Given the description of an element on the screen output the (x, y) to click on. 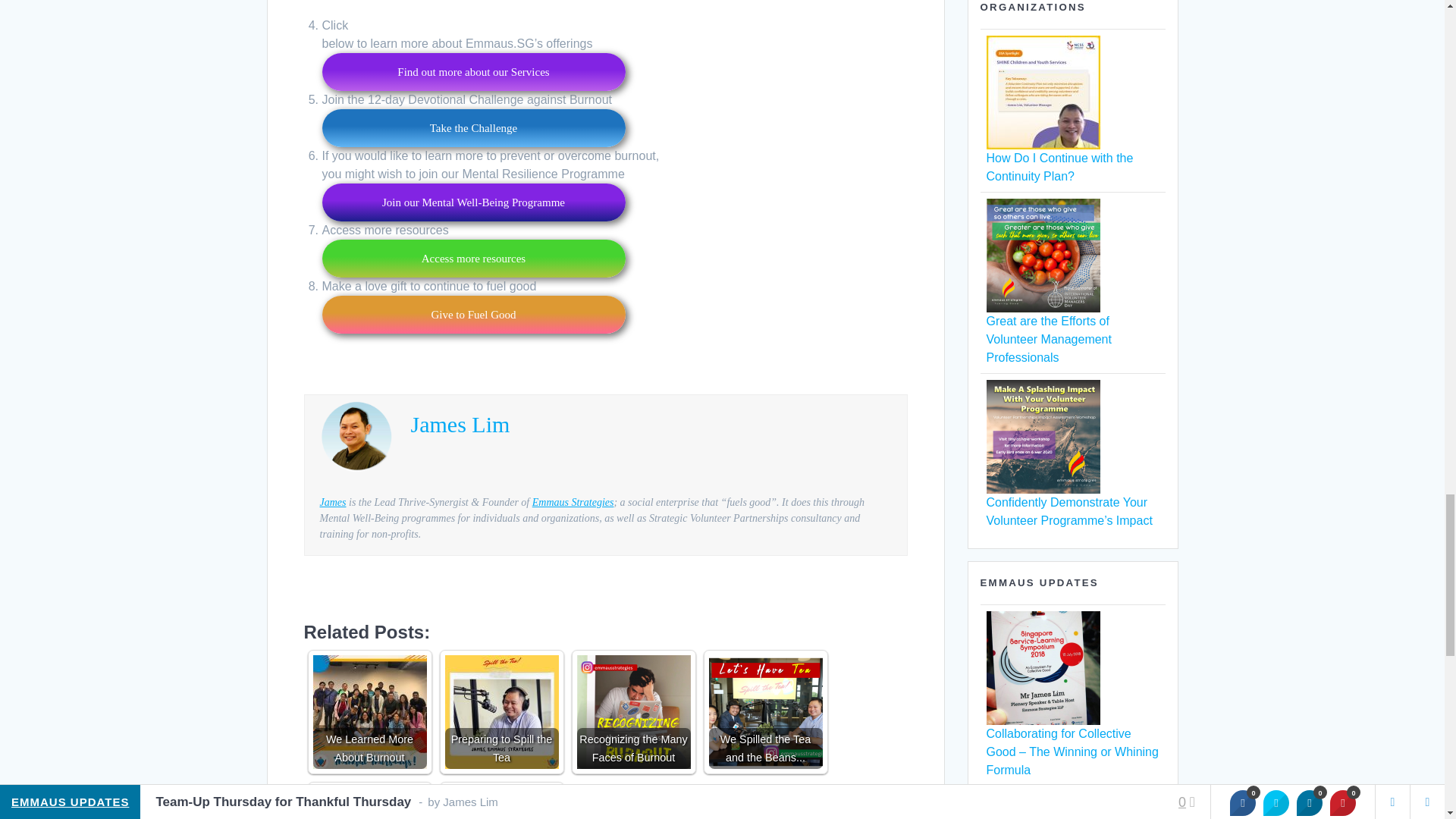
We Learned More About Burnout (369, 712)
Give to Fuel Good (472, 314)
Preparing to Spill the Tea (500, 712)
Join our Mental Well-Being Programme (472, 202)
How to Keep the Peace at Home during COVID-19 (500, 803)
Take the Challenge (472, 127)
Access more resources (472, 258)
We Spilled the Tea and the Beans... (764, 712)
Find out more about our Services (472, 71)
Meet Goodie (369, 803)
Recognizing the Many Faces of Burnout (633, 712)
